Given the description of an element on the screen output the (x, y) to click on. 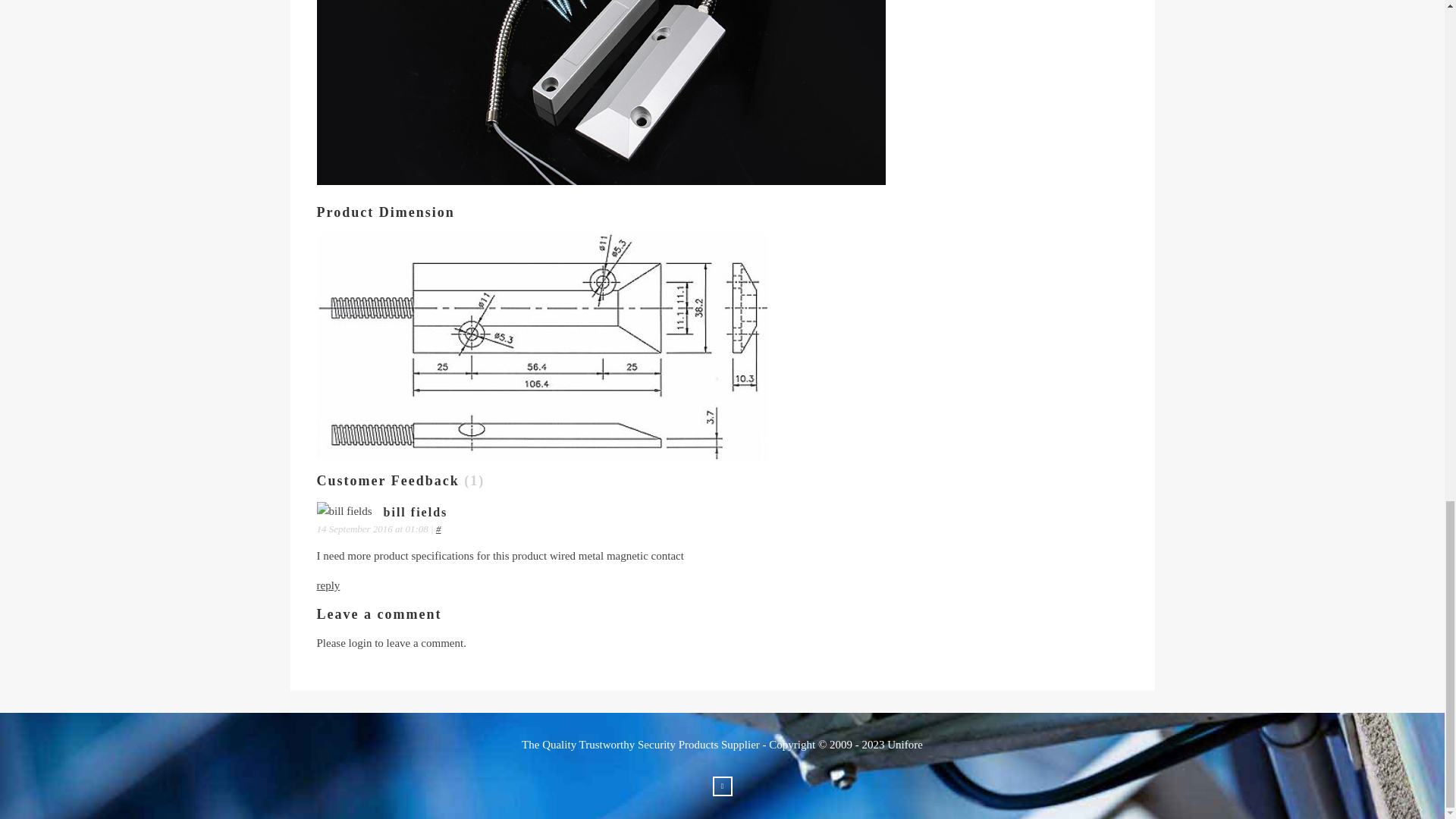
RZ-55Z Metal Magnetic Contact (601, 92)
bill fields (344, 511)
reply (328, 585)
